Given the description of an element on the screen output the (x, y) to click on. 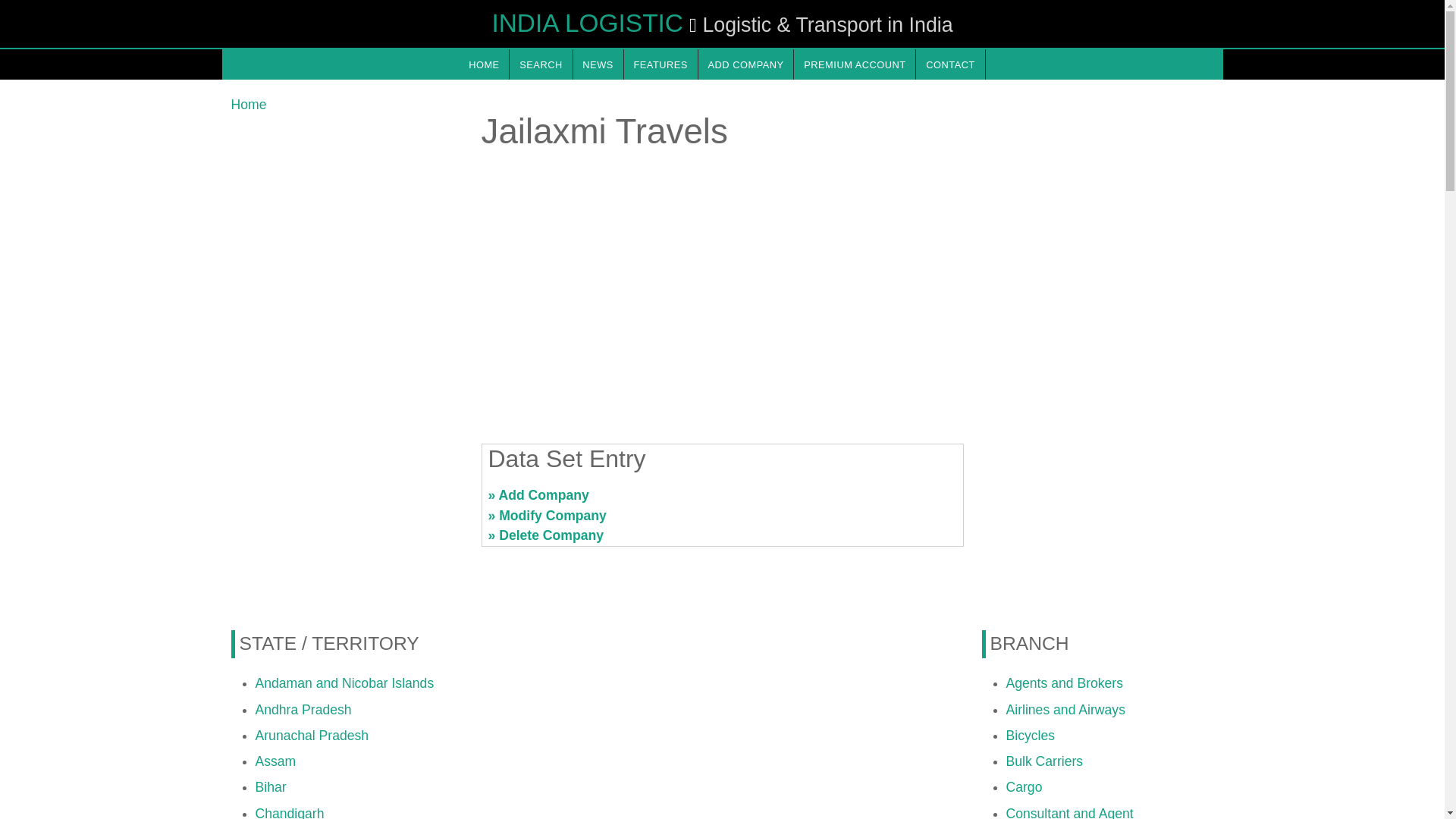
PREMIUM ACCOUNT (854, 64)
FEATURES (660, 64)
HOME (483, 64)
SEARCH (540, 64)
CONTACT (949, 64)
Premium account (854, 64)
Search in this webseite. (540, 64)
Home (248, 104)
Andaman and Nicobar Islands (343, 683)
NEWS (598, 64)
